Given the description of an element on the screen output the (x, y) to click on. 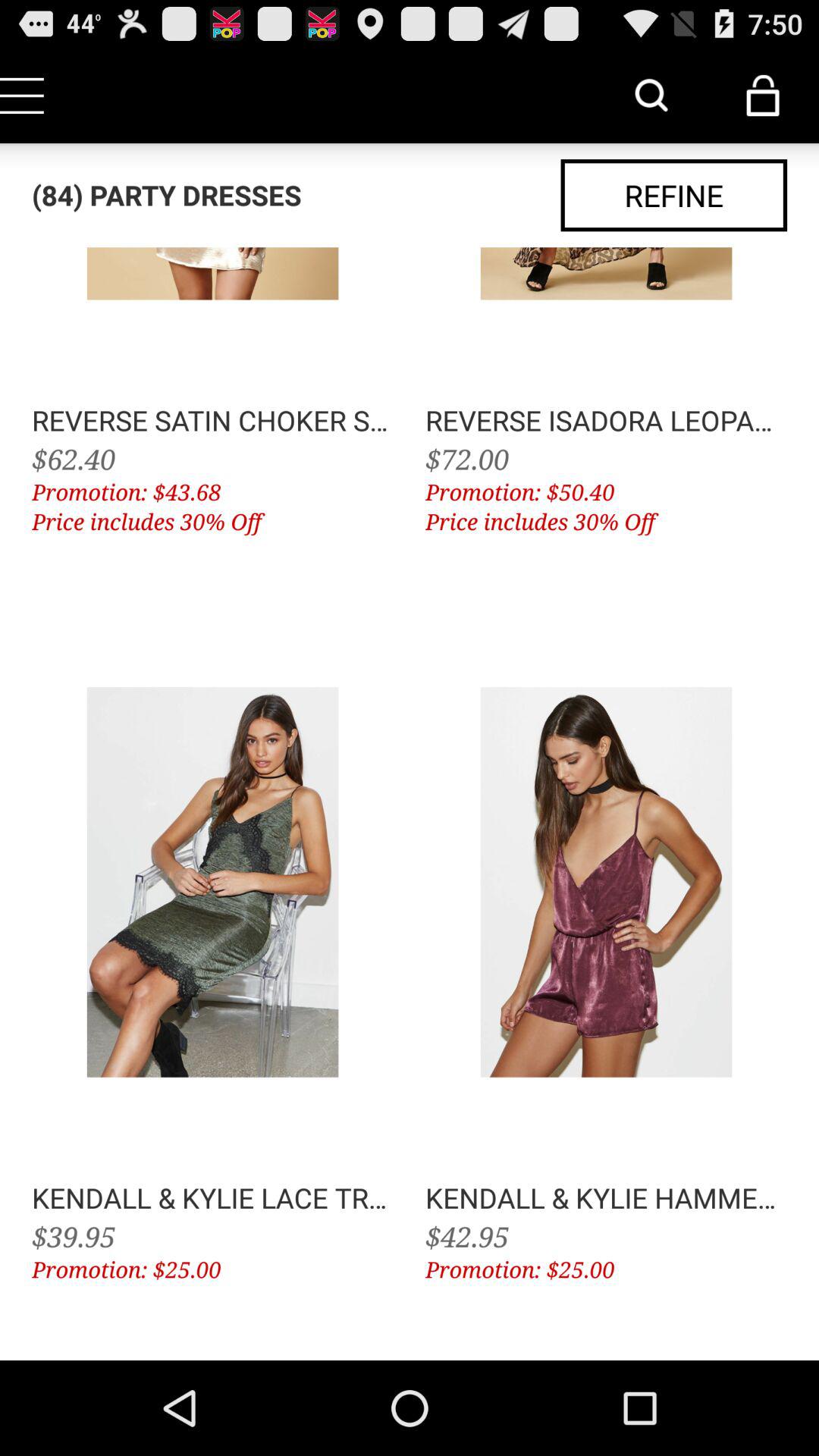
open item above the refine button (763, 95)
